Given the description of an element on the screen output the (x, y) to click on. 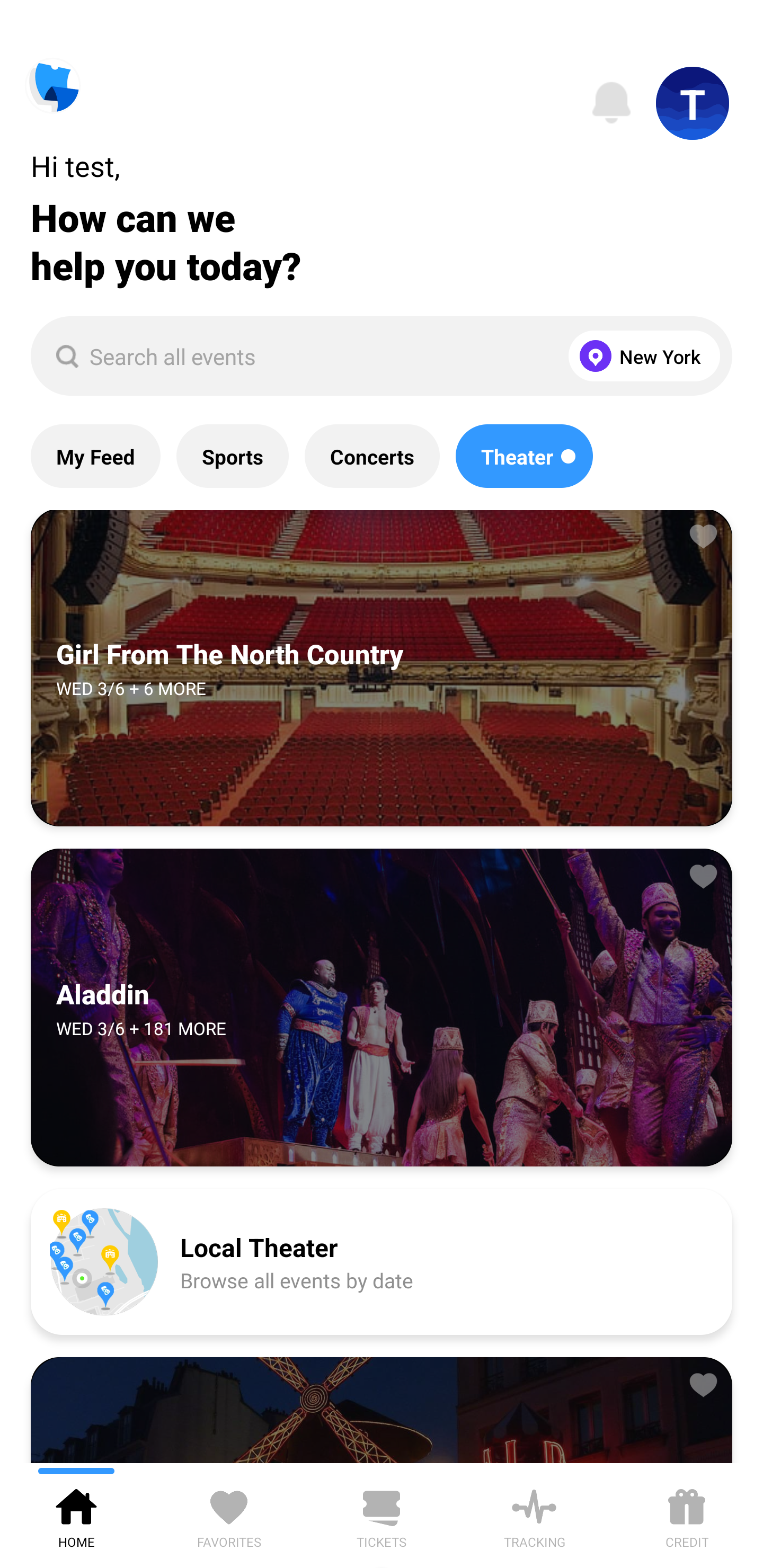
T (692, 103)
New York (640, 355)
My Feed (95, 455)
Sports (232, 455)
Concerts (371, 455)
Theater (523, 455)
HOME (76, 1515)
FAVORITES (228, 1515)
TICKETS (381, 1515)
TRACKING (533, 1515)
CREDIT (686, 1515)
